Given the description of an element on the screen output the (x, y) to click on. 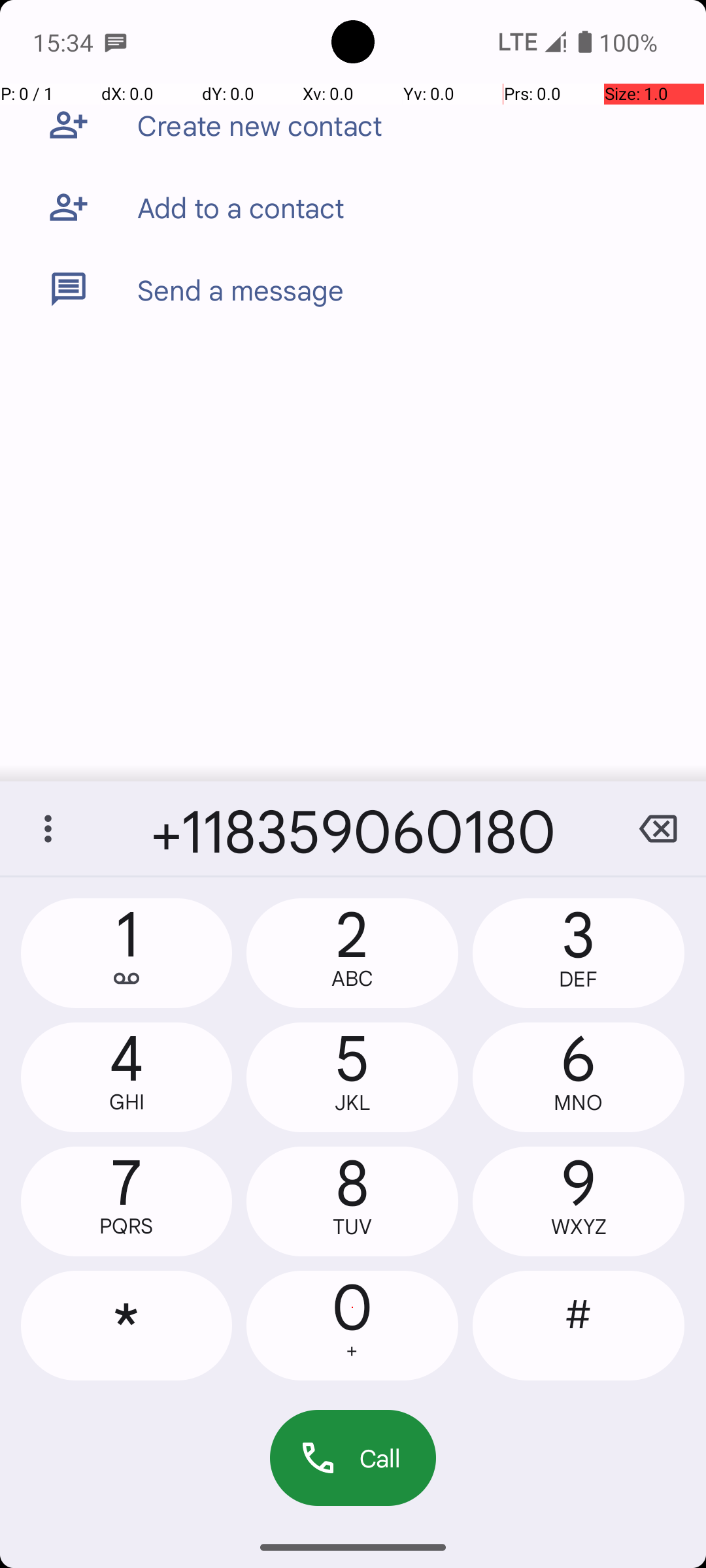
+118359060180 Element type: android.widget.EditText (352, 828)
